Given the description of an element on the screen output the (x, y) to click on. 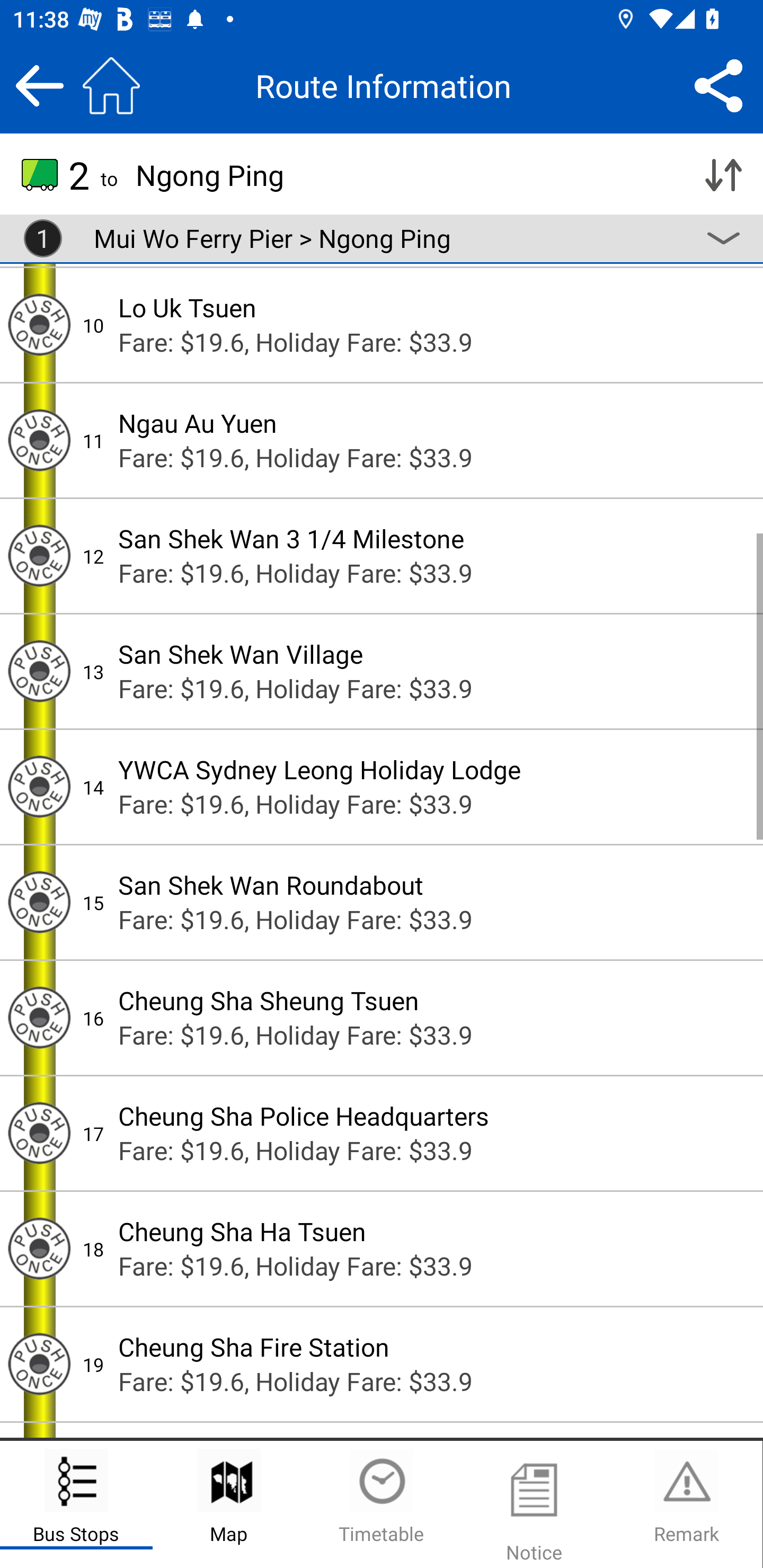
Jump to home page (111, 85)
Share point to point route search criteria) (718, 85)
Back (39, 85)
Reverse direction (723, 174)
Other routes (723, 238)
Alight Reminder (39, 324)
Alight Reminder (39, 439)
Alight Reminder (39, 555)
Alight Reminder (39, 670)
Alight Reminder (39, 786)
Alight Reminder (39, 902)
Alight Reminder (39, 1017)
Alight Reminder (39, 1132)
Alight Reminder (39, 1248)
Alight Reminder (39, 1363)
Bus Stops (76, 1504)
Map (228, 1504)
Timetable (381, 1504)
Notice (533, 1504)
Remark (686, 1504)
